Given the description of an element on the screen output the (x, y) to click on. 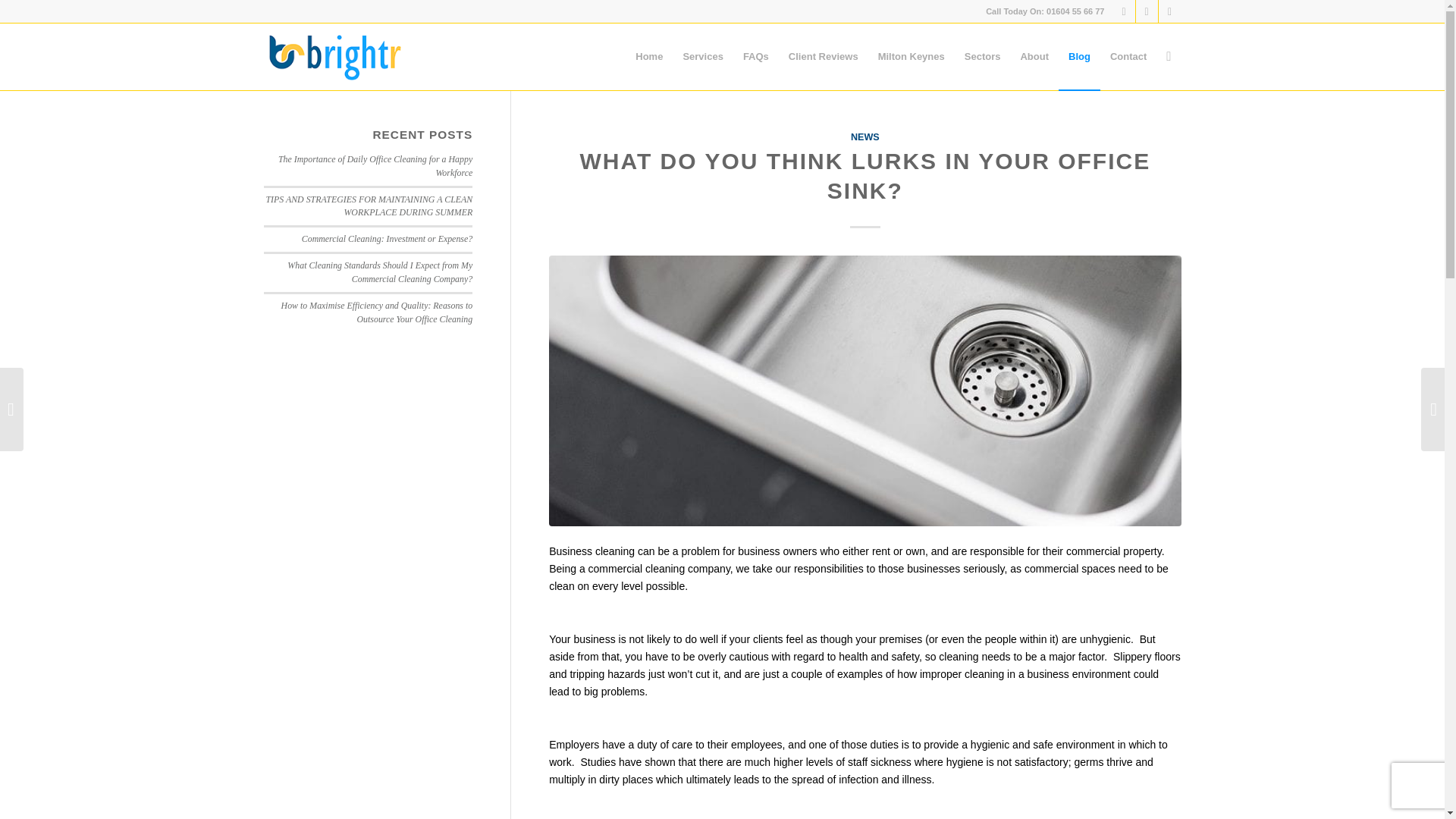
LinkedIn (1169, 11)
Milton Keynes (911, 56)
NEWS (864, 136)
X (1124, 11)
Facebook (1146, 11)
Client Reviews (822, 56)
Services (702, 56)
